Given the description of an element on the screen output the (x, y) to click on. 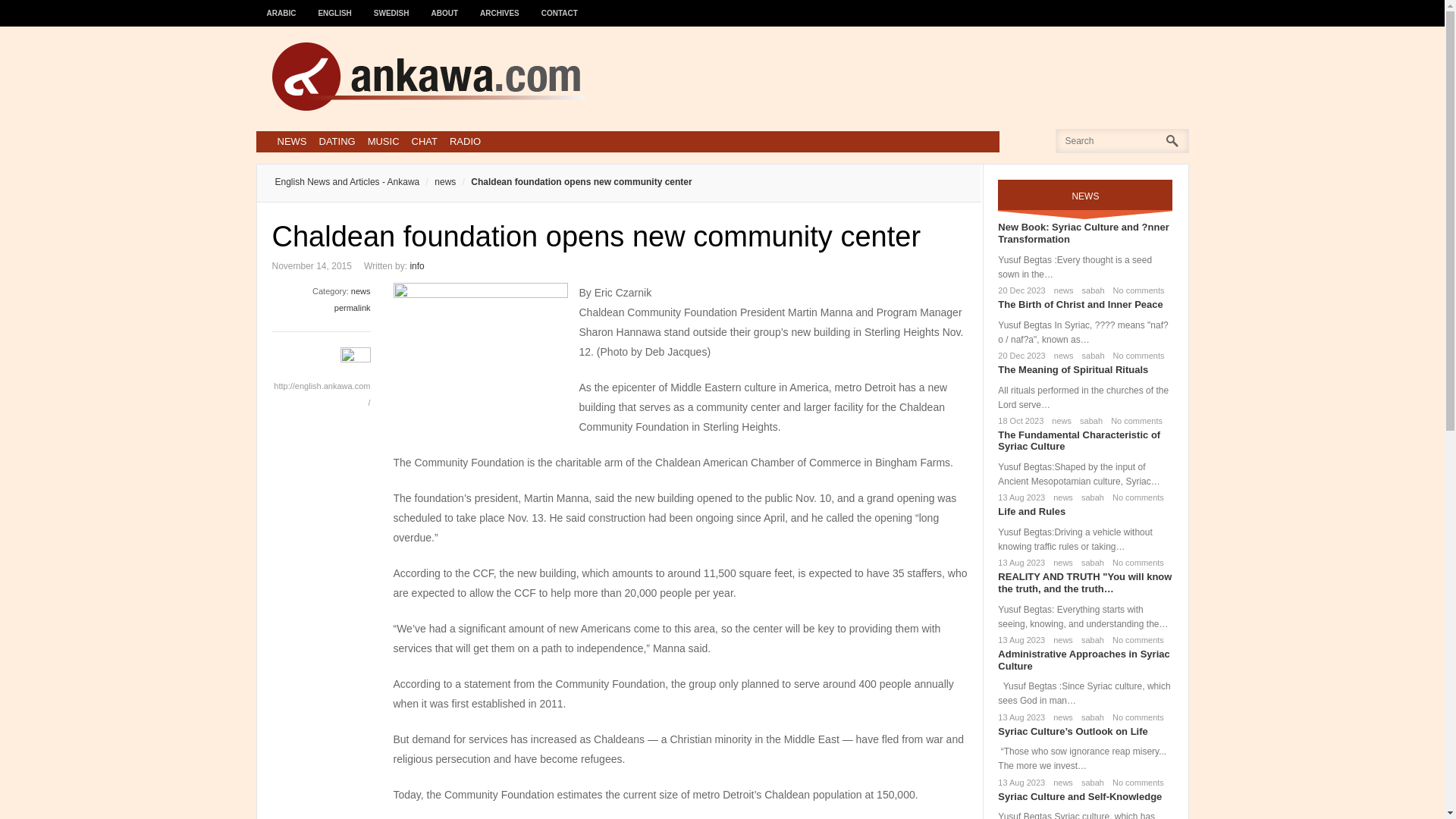
sabah (1090, 355)
sabah (1088, 420)
The Fundamental Characteristic of Syriac Culture (1078, 440)
No comments (1135, 355)
Administrative Approaches in Syriac Culture (1083, 659)
DATING (337, 141)
info (416, 266)
RADIO (465, 141)
ENGLISH (334, 5)
CHAT (425, 141)
permalink (352, 307)
sabah (1090, 289)
news (1059, 497)
No comments (1133, 420)
The Birth of Christ and Inner Peace (1079, 304)
